Given the description of an element on the screen output the (x, y) to click on. 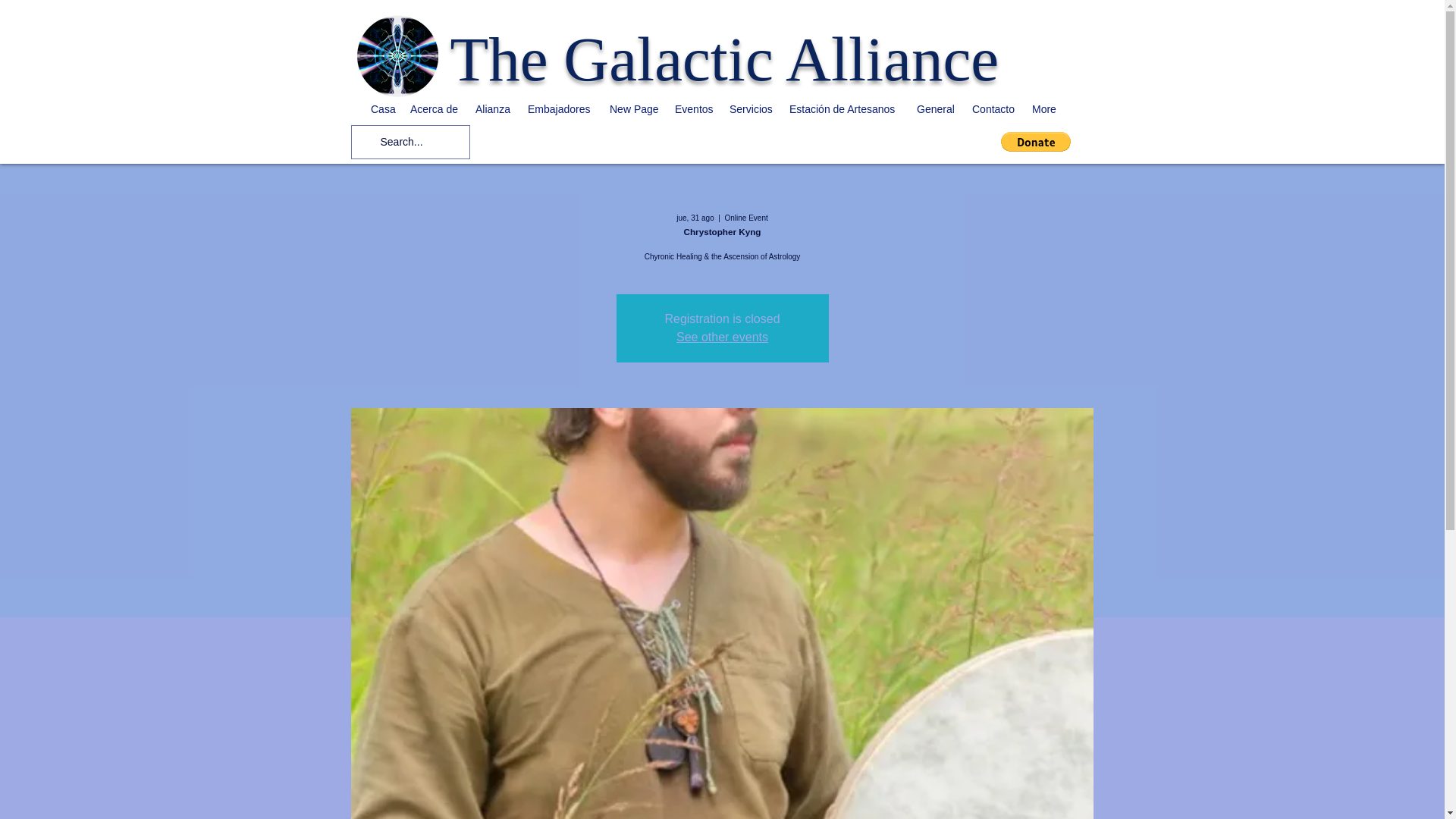
General (935, 108)
Eventos (694, 108)
Embajadores (560, 108)
Contacto (994, 108)
New Page (634, 108)
Casa (382, 108)
Servicios (751, 108)
Acerca de (435, 108)
Alianza (493, 108)
